Given the description of an element on the screen output the (x, y) to click on. 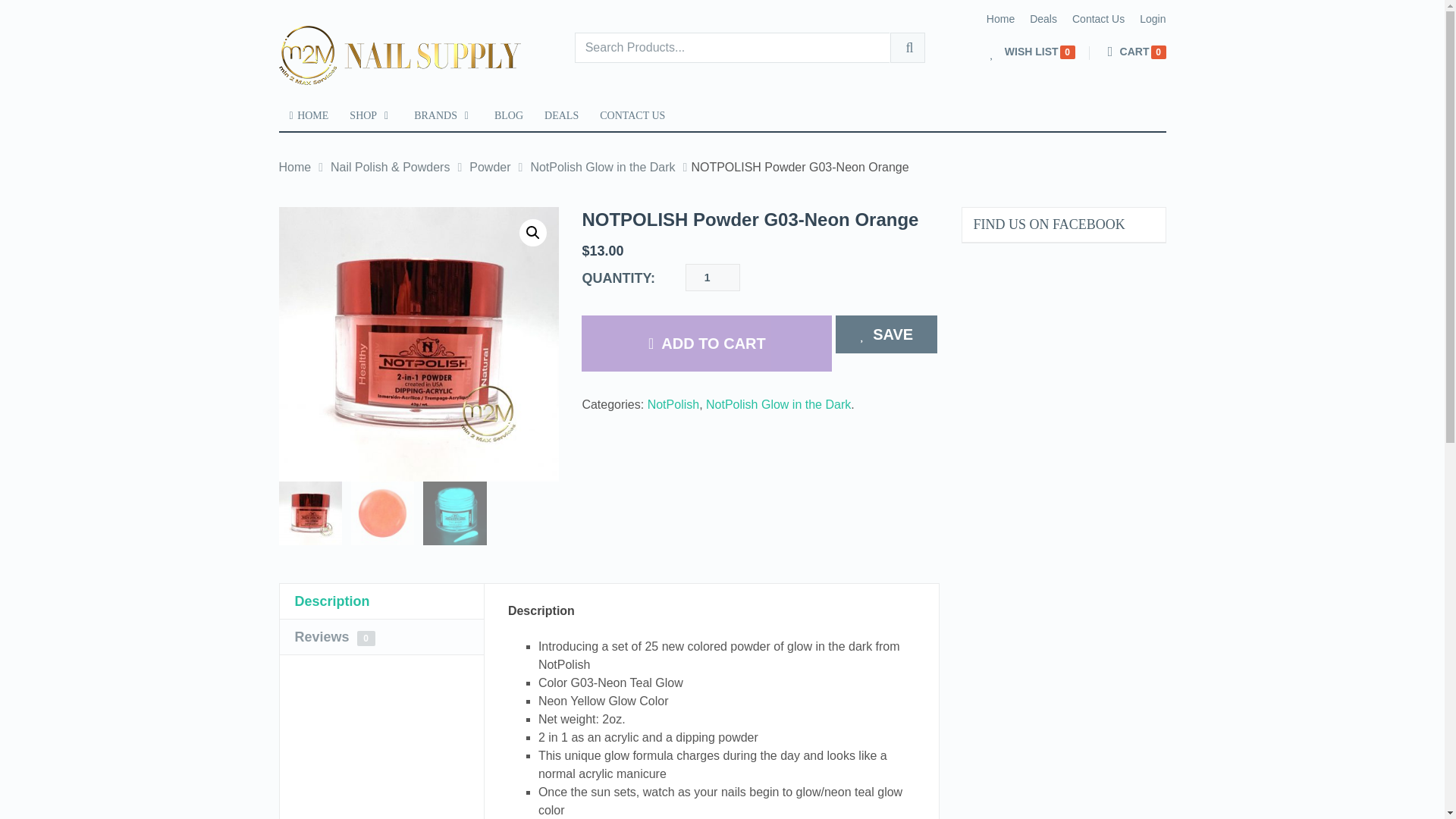
Login (1153, 18)
G03 (419, 344)
1 (712, 277)
Home (1000, 18)
HOME (309, 115)
Deals (1043, 18)
SHOP (371, 115)
Contact Us (1097, 18)
